Given the description of an element on the screen output the (x, y) to click on. 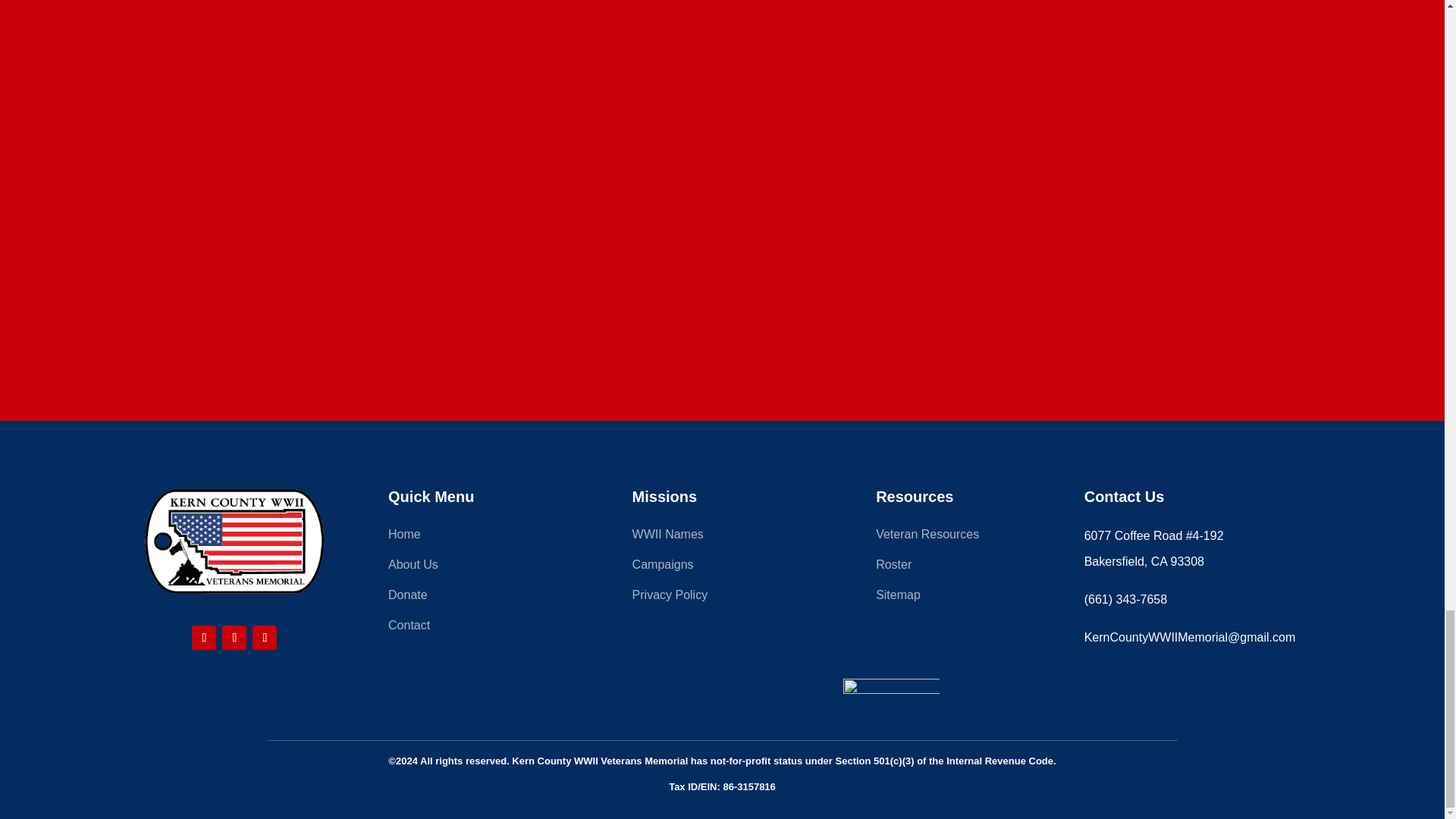
Submit (733, 253)
Follow on Instagram (234, 637)
Sitemap (966, 597)
Contact (478, 628)
Roster (966, 567)
WWII Names (721, 537)
Veteran Resources (966, 537)
Privacy Policy (721, 597)
Follow on Yelp (263, 637)
Follow on Facebook (203, 637)
Donate (478, 597)
About Us (478, 567)
Campaigns (721, 567)
Home (478, 537)
